Given the description of an element on the screen output the (x, y) to click on. 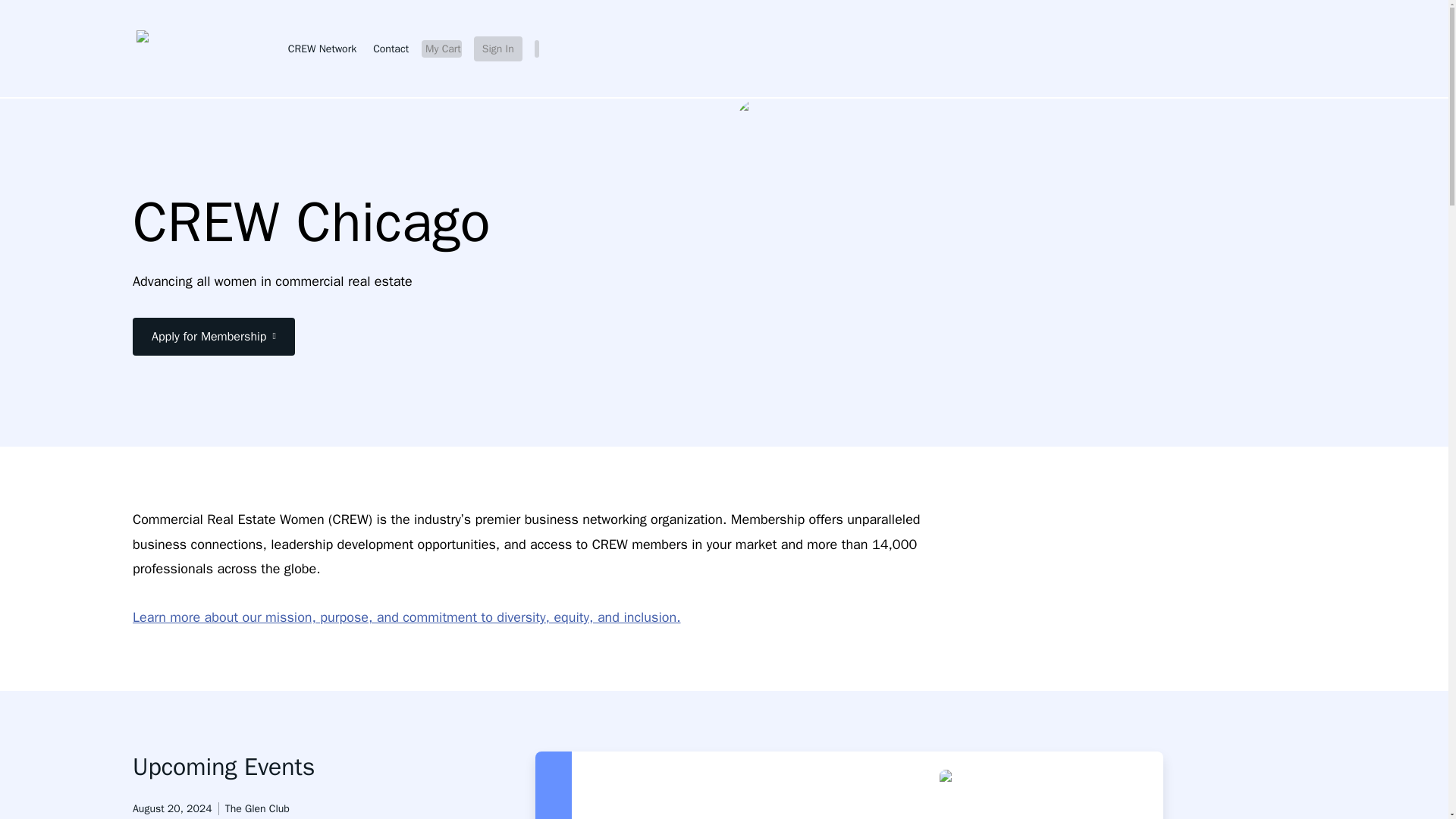
Apply for Membership (213, 336)
Sign In (498, 48)
Contact (389, 48)
CREW Network (319, 48)
My Cart (441, 48)
